Given the description of an element on the screen output the (x, y) to click on. 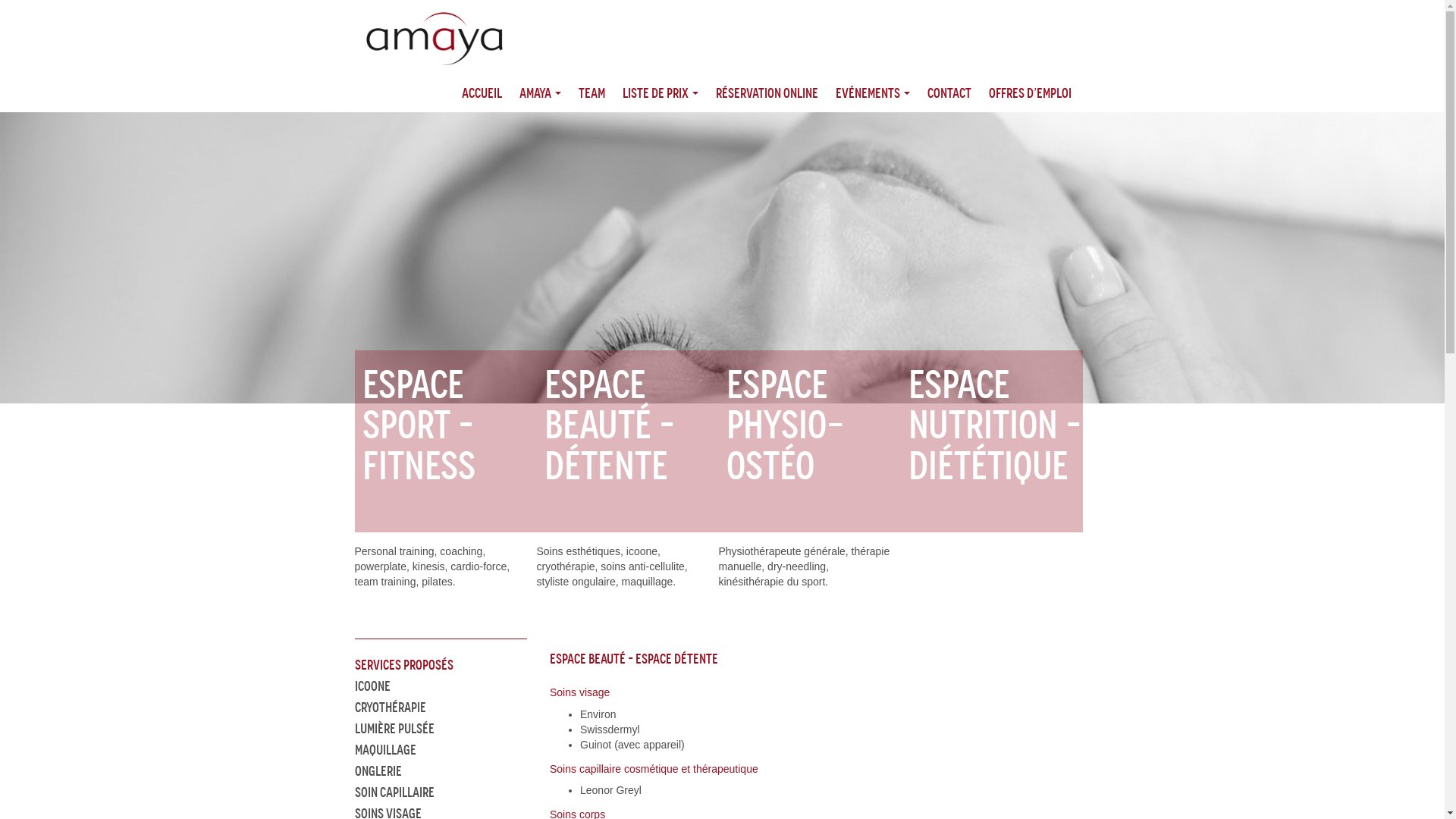
SOIN CAPILLAIRE Element type: text (394, 792)
ACCUEIL Element type: text (481, 92)
TEAM Element type: text (590, 92)
MAQUILLAGE Element type: text (385, 749)
ICOONE Element type: text (372, 685)
LISTE DE PRIX Element type: text (659, 92)
AMAYA Element type: text (539, 92)
CONTACT Element type: text (948, 92)
ONGLERIE Element type: text (377, 770)
